Given the description of an element on the screen output the (x, y) to click on. 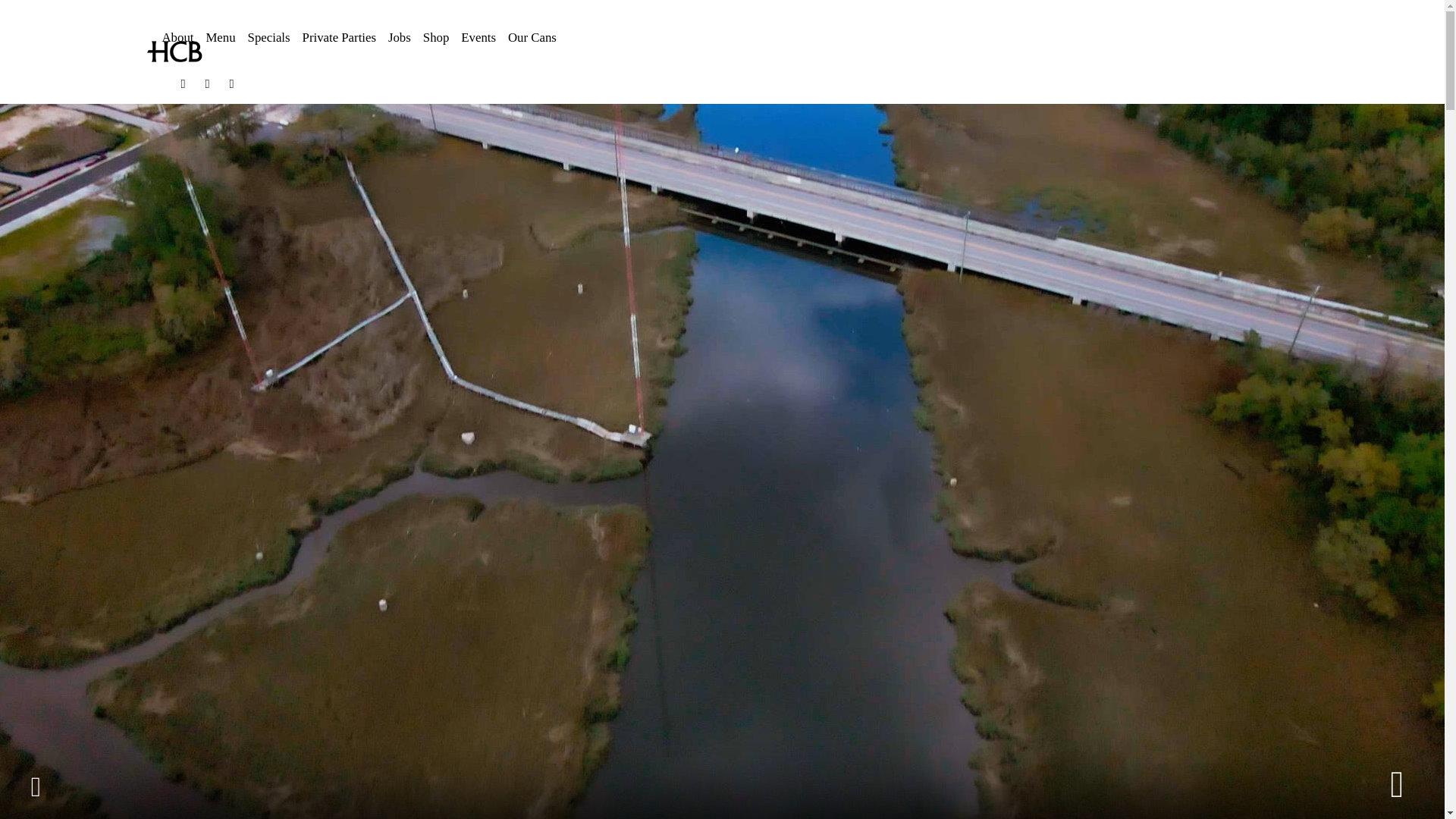
Jobs (398, 37)
Specials (269, 37)
Menu (220, 37)
Our Cans (532, 37)
Events (478, 37)
Shop (435, 37)
About (177, 37)
Private Parties (339, 37)
